Given the description of an element on the screen output the (x, y) to click on. 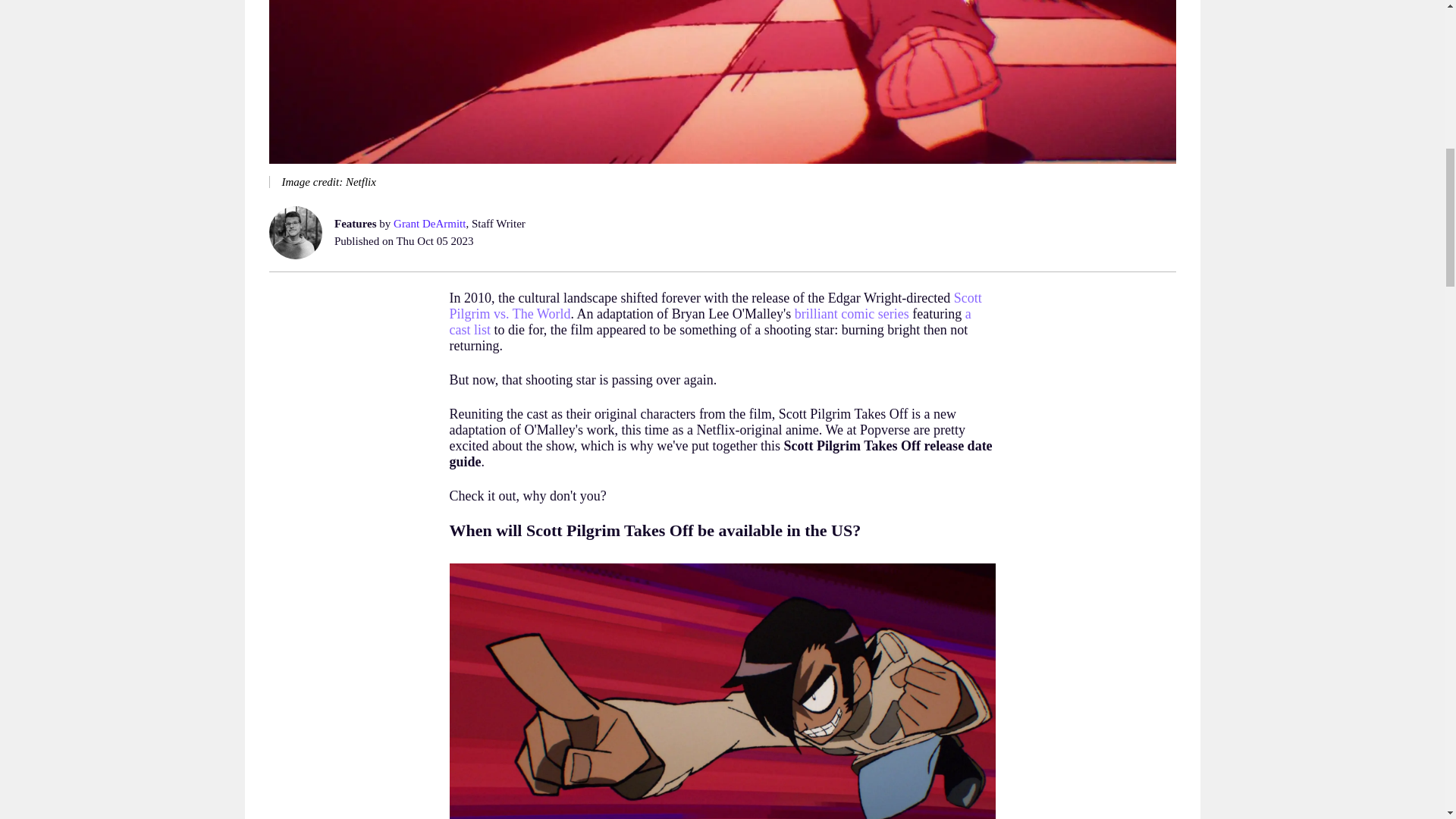
brilliant comic series (851, 313)
Scott Pilgrim vs. The World (714, 305)
a cast list (709, 321)
Grant DeArmitt (429, 223)
